Given the description of an element on the screen output the (x, y) to click on. 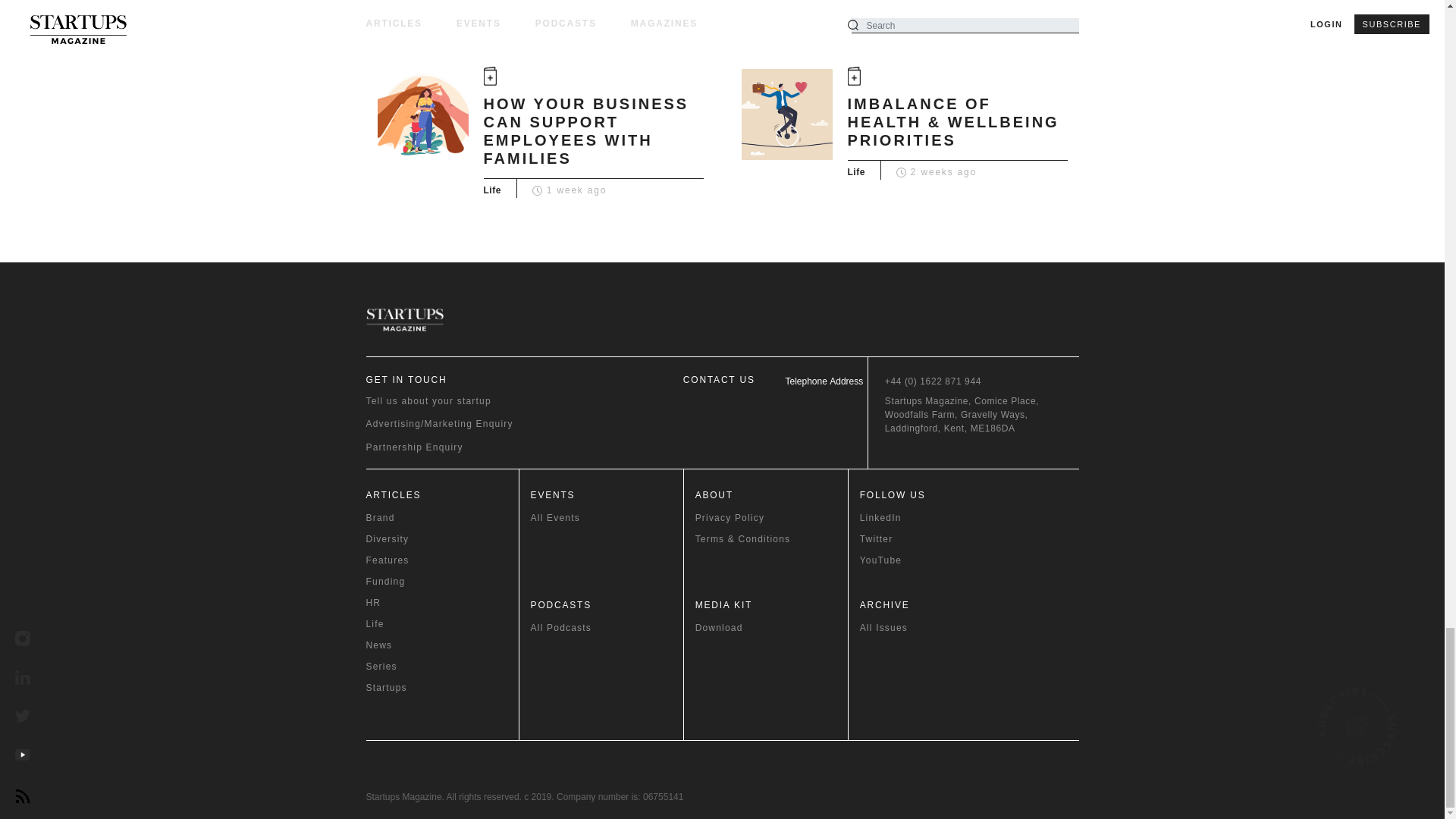
Articles (441, 495)
Brand (441, 517)
Diversity (441, 539)
